Given the description of an element on the screen output the (x, y) to click on. 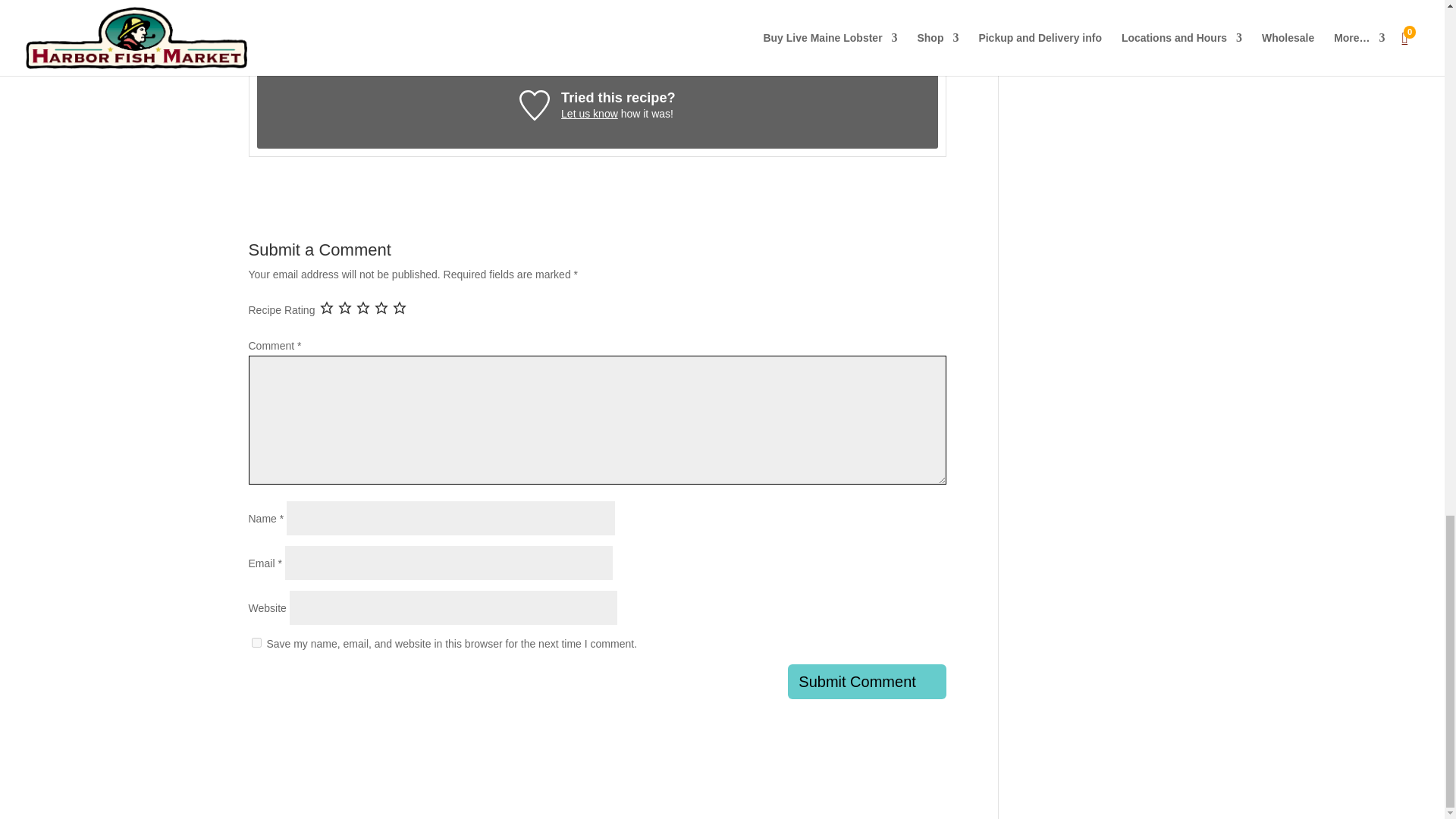
Submit Comment (866, 681)
Let us know (588, 113)
Submit Comment (866, 681)
yes (256, 642)
